Given the description of an element on the screen output the (x, y) to click on. 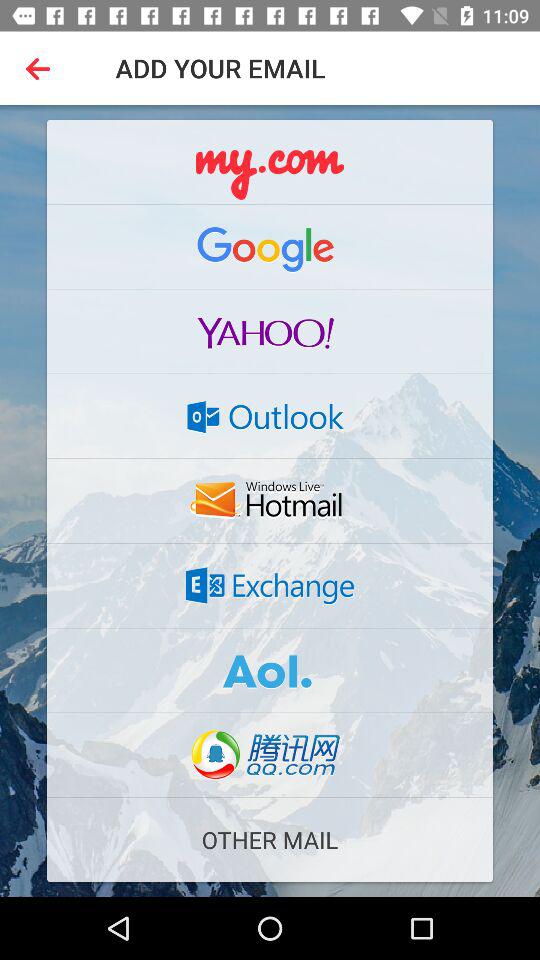
yahoo logo (269, 331)
